Given the description of an element on the screen output the (x, y) to click on. 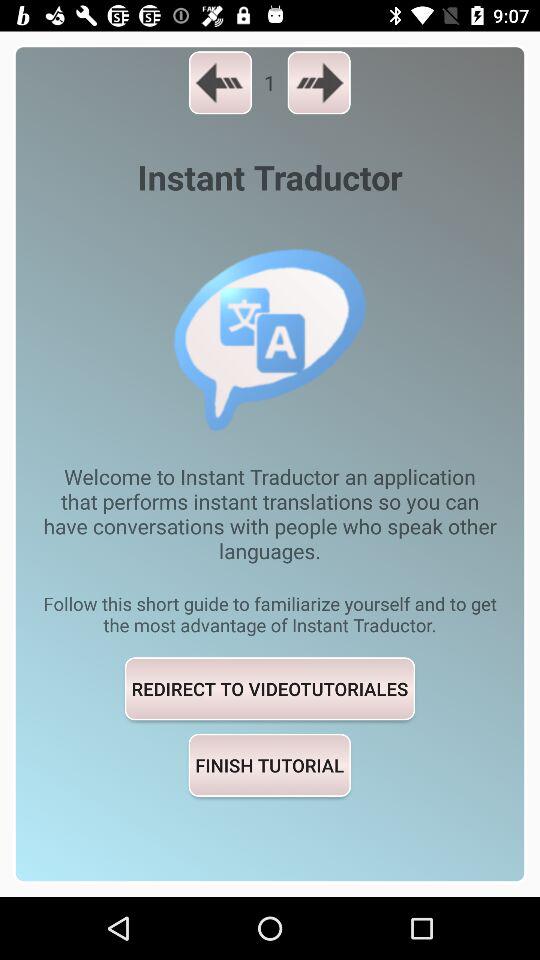
select the item next to the  1  icon (318, 82)
